Given the description of an element on the screen output the (x, y) to click on. 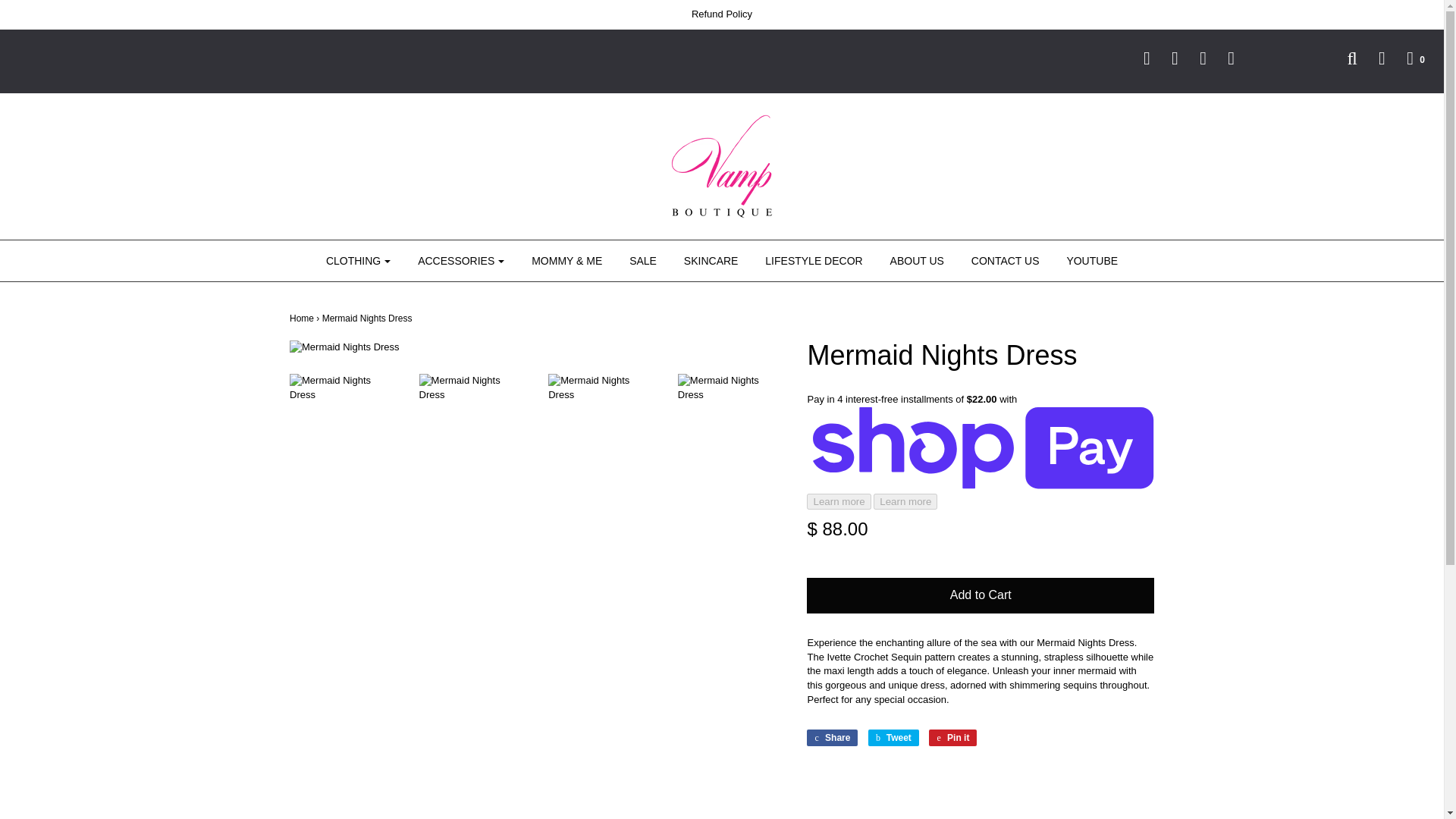
Your Cart (1406, 58)
Log in (1372, 58)
Search (1341, 58)
